Given the description of an element on the screen output the (x, y) to click on. 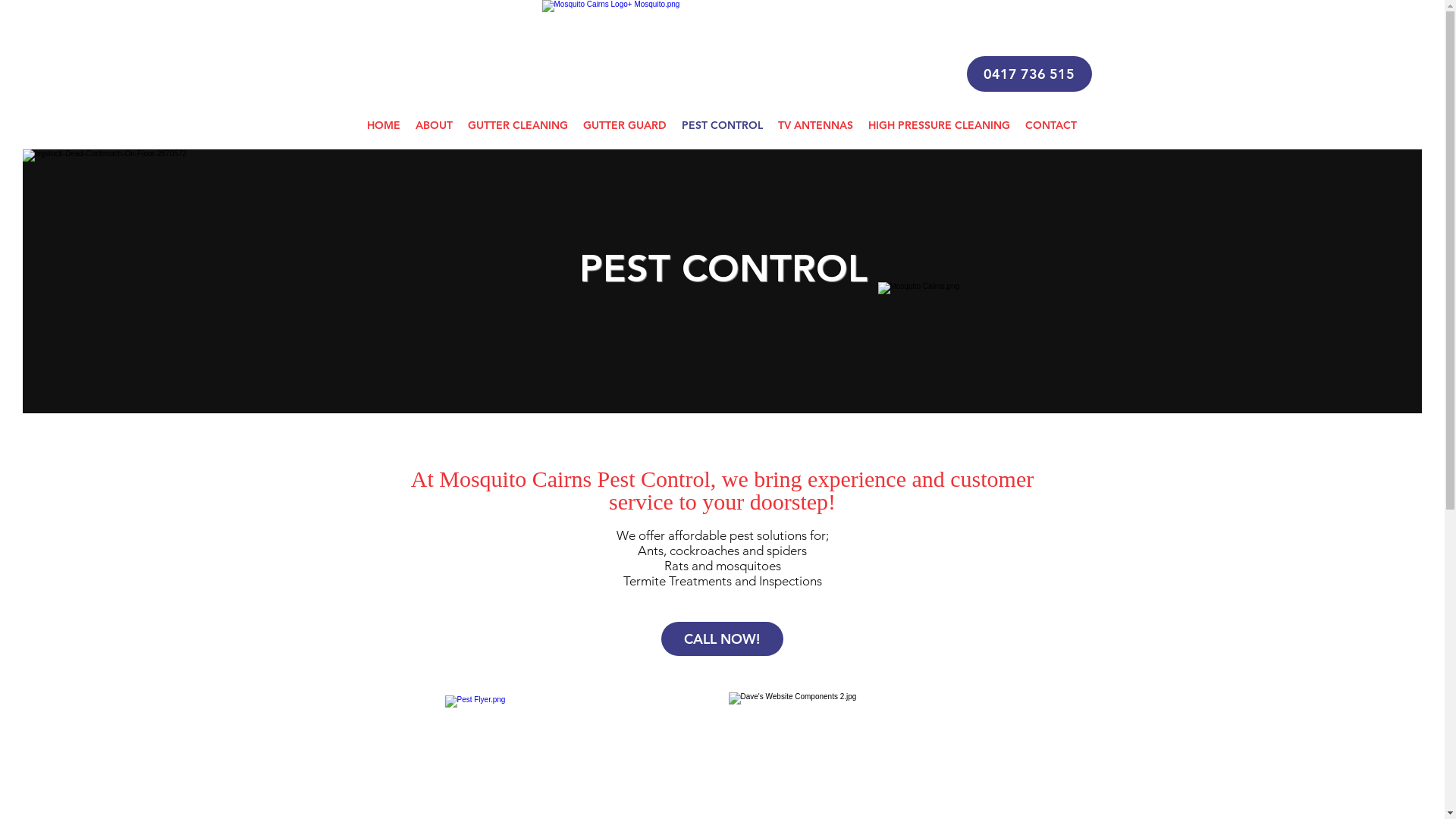
CALL NOW! Element type: text (722, 638)
PEST CONTROL Element type: text (721, 125)
TV ANTENNAS Element type: text (815, 125)
HOME Element type: text (383, 125)
HIGH PRESSURE CLEANING Element type: text (937, 125)
GUTTER GUARD Element type: text (623, 125)
CONTACT Element type: text (1050, 125)
ABOUT Element type: text (433, 125)
GUTTER CLEANING Element type: text (516, 125)
0417 736 515 Element type: text (1028, 73)
